Given the description of an element on the screen output the (x, y) to click on. 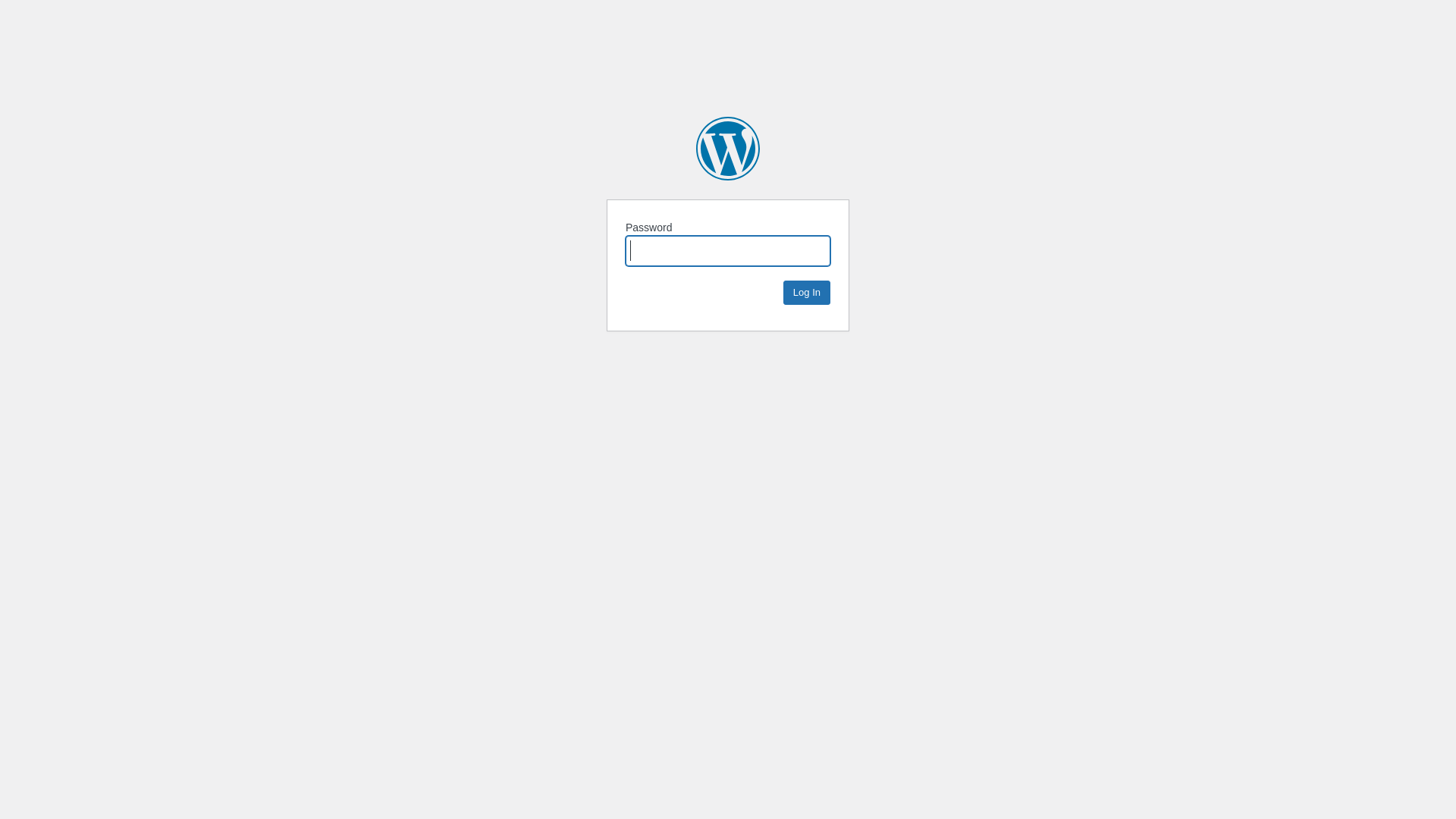
Log In Element type: text (806, 292)
1on1navi_demo Element type: text (727, 148)
